Given the description of an element on the screen output the (x, y) to click on. 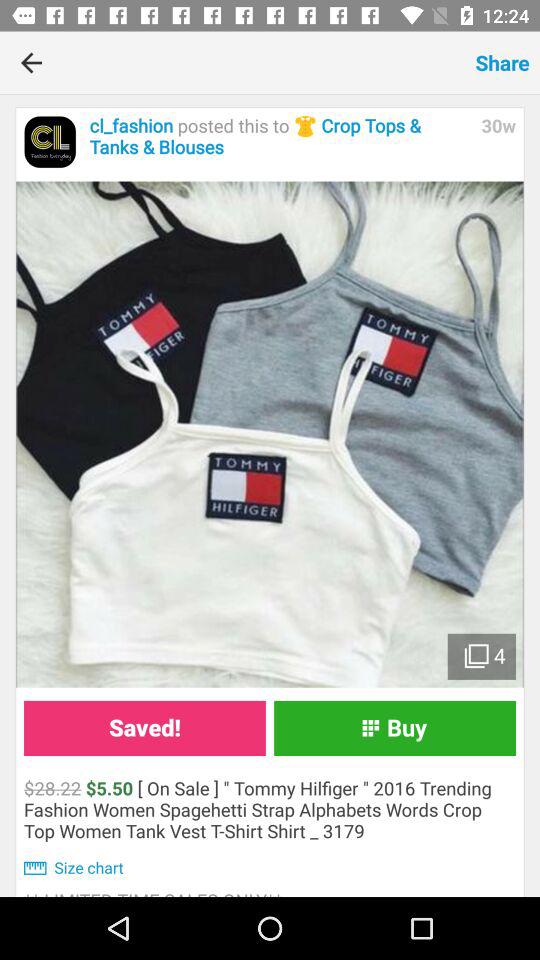
scroll until cl_fashion posted this item (280, 136)
